Given the description of an element on the screen output the (x, y) to click on. 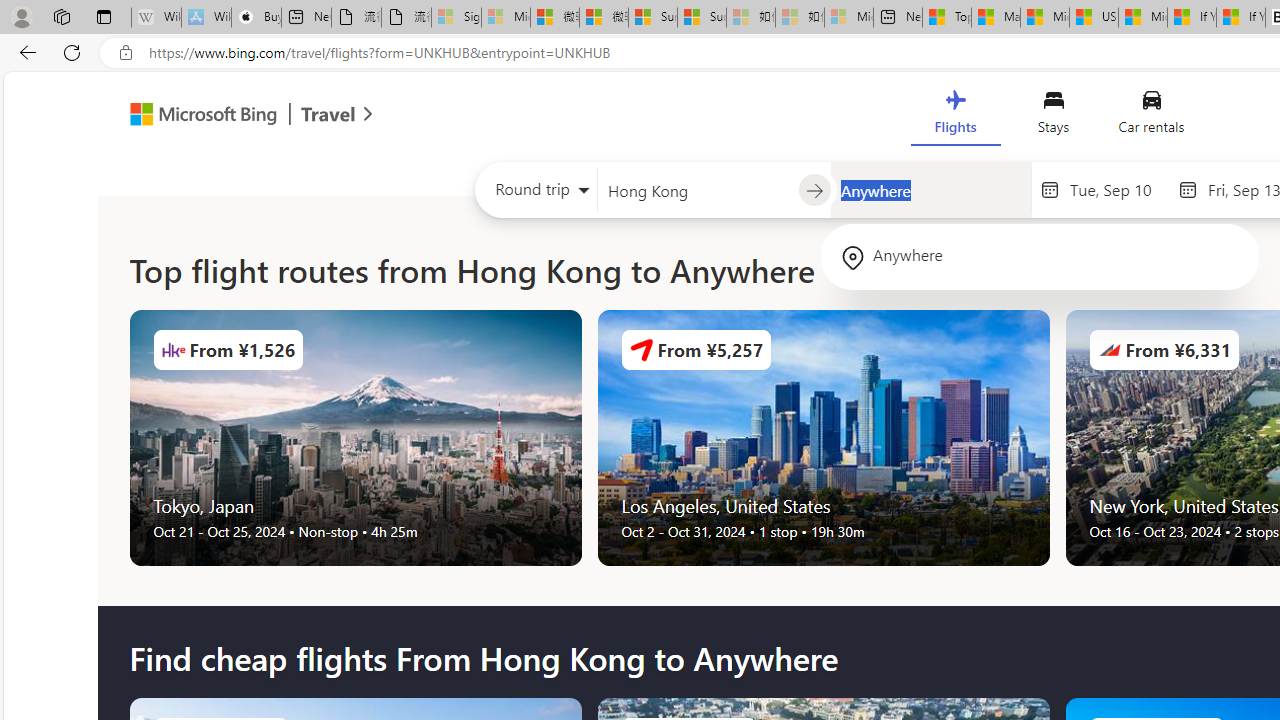
Stays (1053, 116)
Microsoft Bing Travel (229, 116)
Flights (955, 116)
to (814, 191)
Class: msft-bing-logo msft-bing-logo-desktop (198, 114)
